Given the description of an element on the screen output the (x, y) to click on. 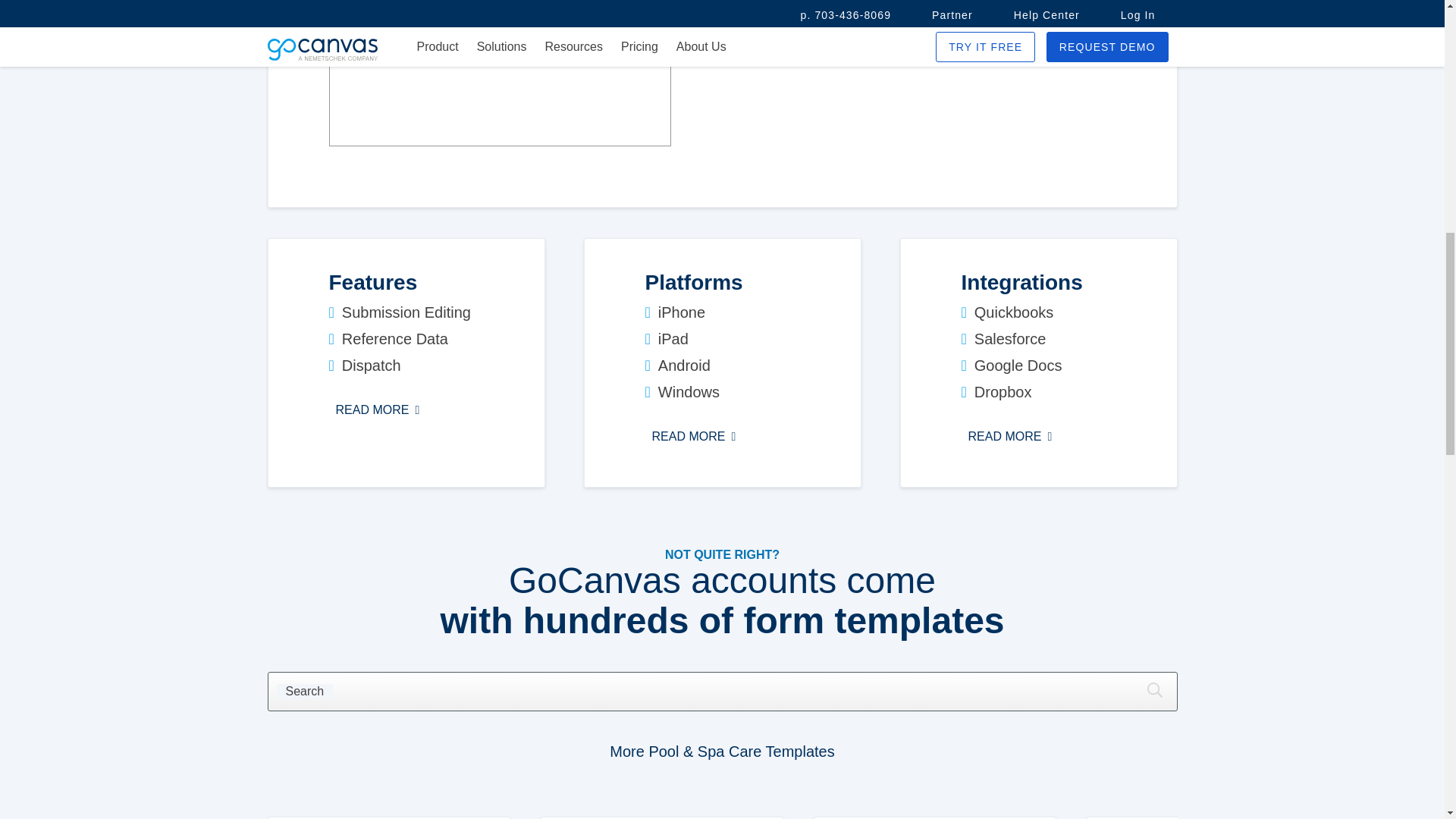
READ MORE (693, 436)
READ MORE (1009, 436)
READ MORE (377, 409)
